Given the description of an element on the screen output the (x, y) to click on. 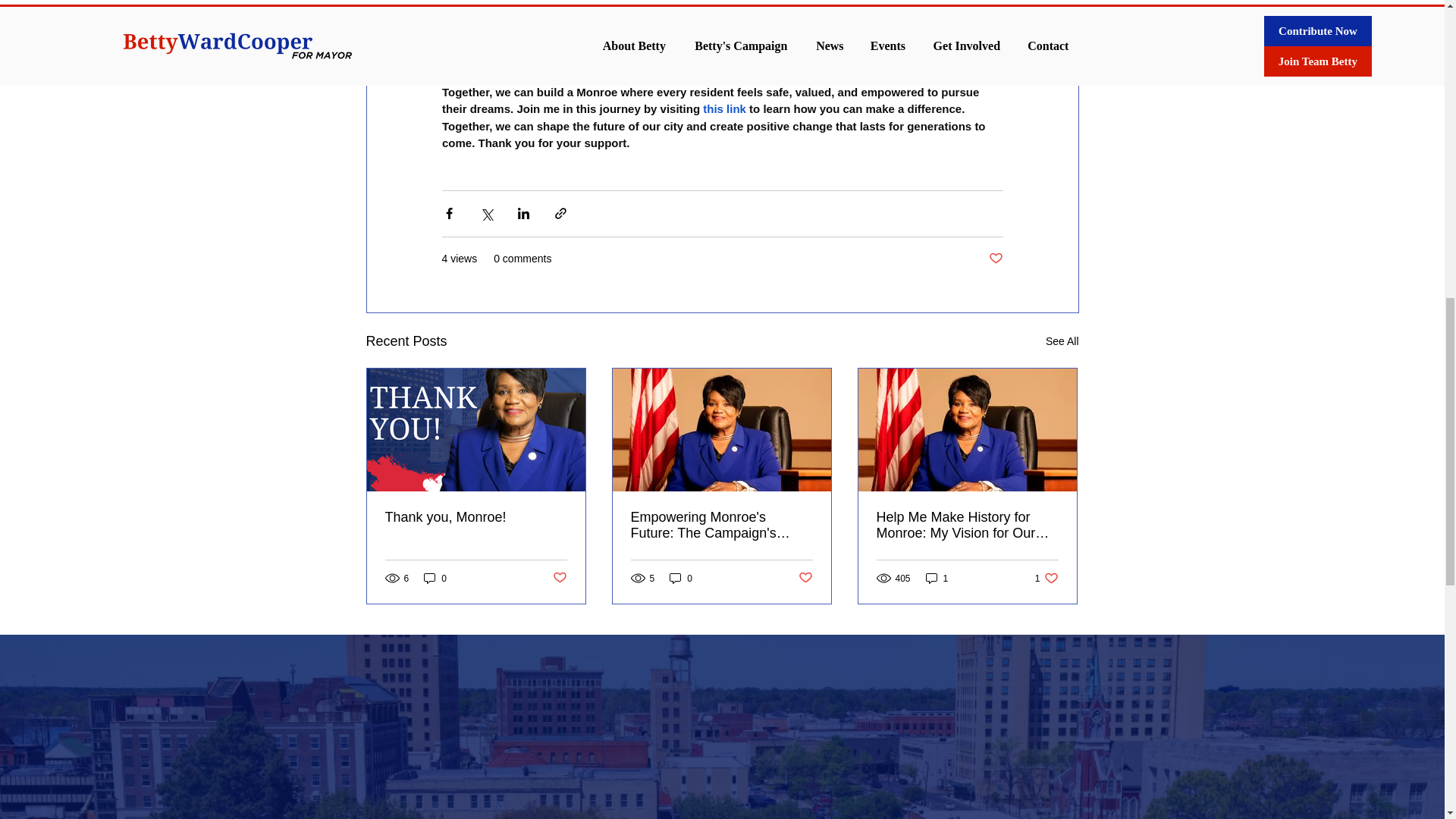
See All (1061, 341)
0 (435, 577)
0 (681, 577)
this link (724, 108)
Empowering Monroe's Future: The Campaign's Impactful Path (721, 525)
1 (937, 577)
Post not marked as liked (558, 578)
Post not marked as liked (995, 258)
Thank you, Monroe! (476, 517)
Post not marked as liked (804, 578)
